Given the description of an element on the screen output the (x, y) to click on. 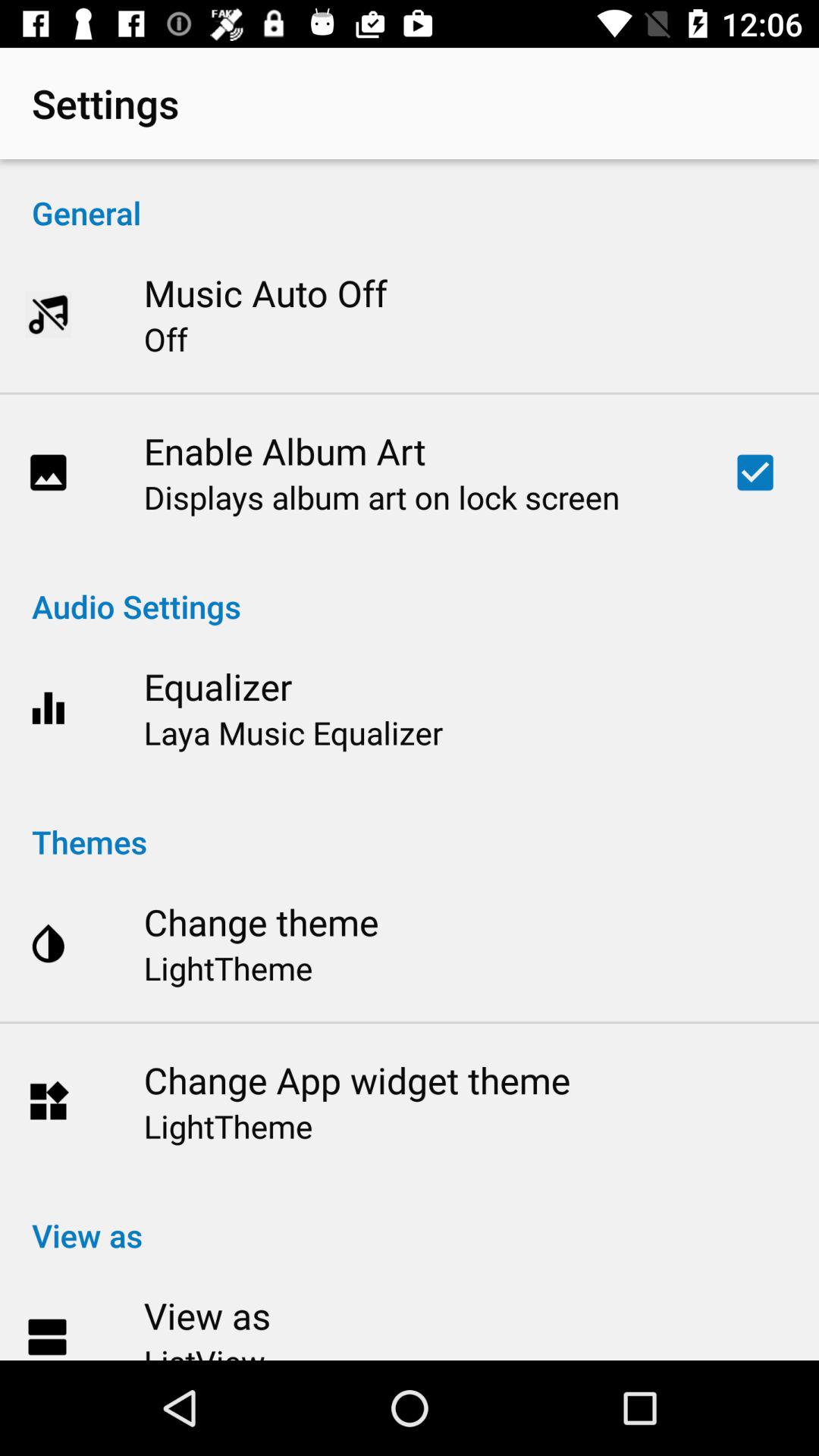
turn on icon below view as (204, 1349)
